Given the description of an element on the screen output the (x, y) to click on. 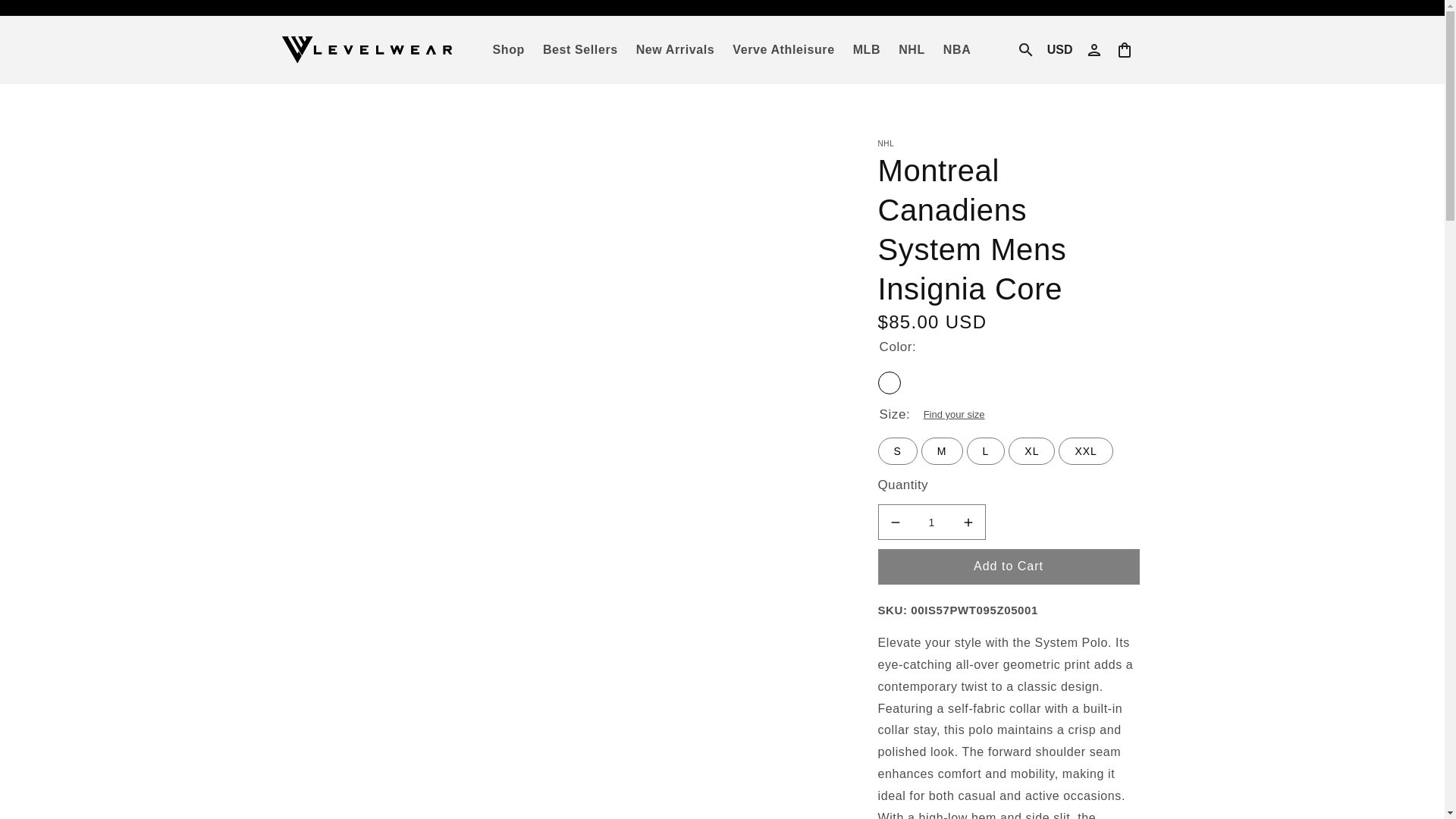
New Arrivals (675, 50)
Verve Athleisure (783, 50)
1 (931, 521)
Language (1059, 50)
Shop (508, 50)
MLB (866, 50)
Find your size (952, 414)
Best Sellers (580, 50)
